Given the description of an element on the screen output the (x, y) to click on. 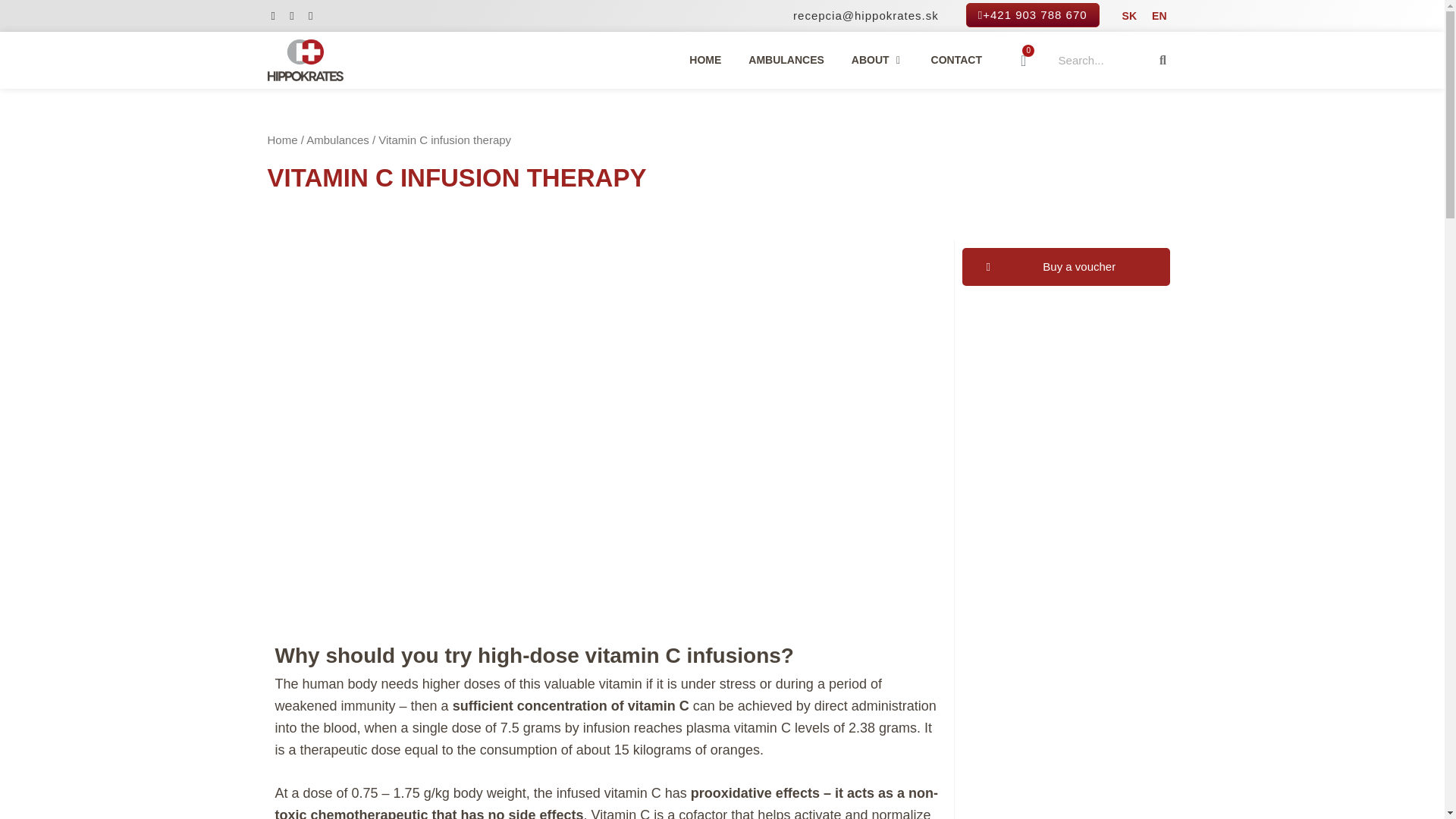
ABOUT (870, 59)
Search (1162, 59)
AMBULANCES (786, 59)
SK (1129, 15)
HOME (1023, 60)
EN (704, 59)
CONTACT (1158, 15)
